Given the description of an element on the screen output the (x, y) to click on. 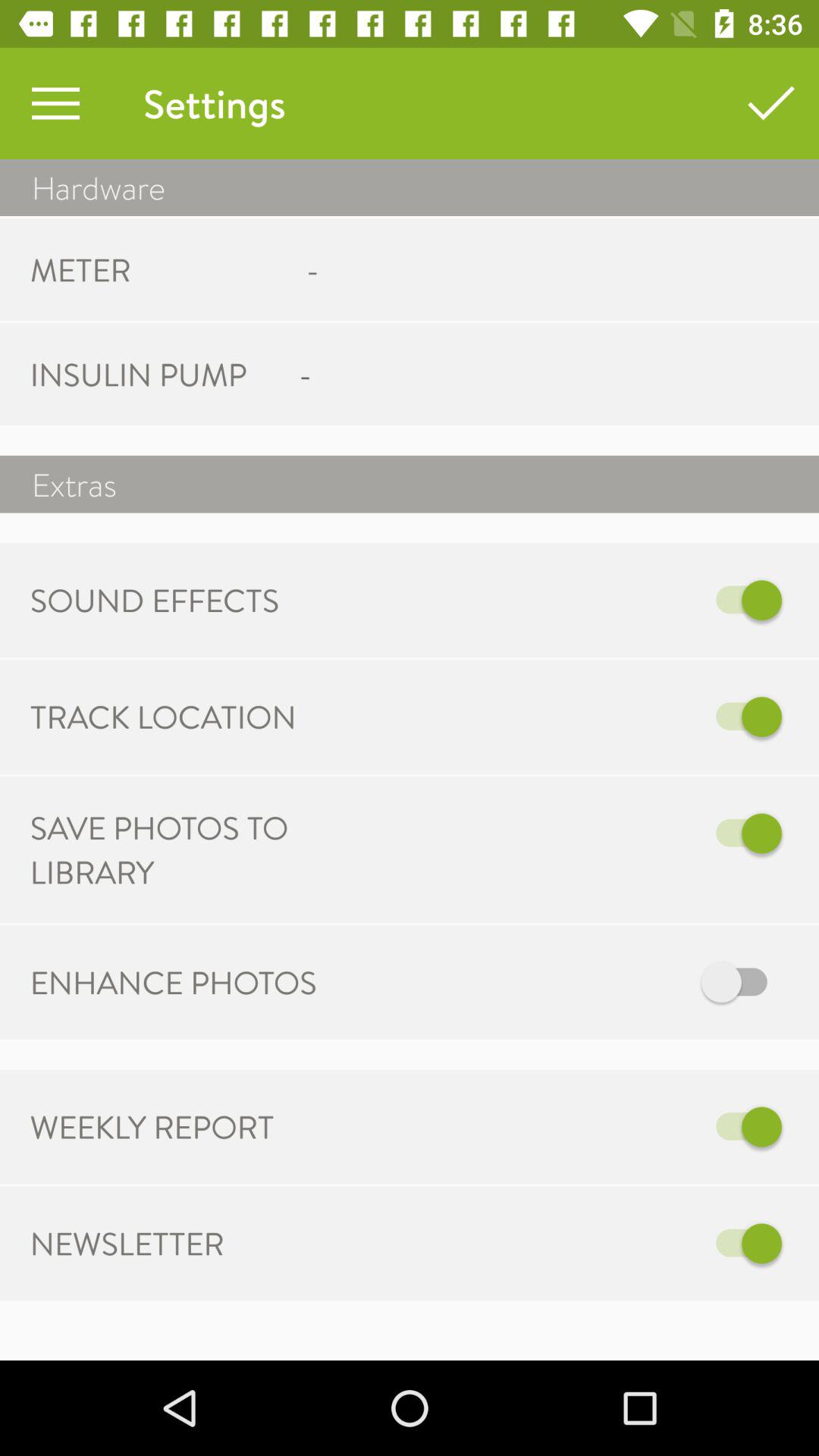
go to on off (566, 716)
